Given the description of an element on the screen output the (x, y) to click on. 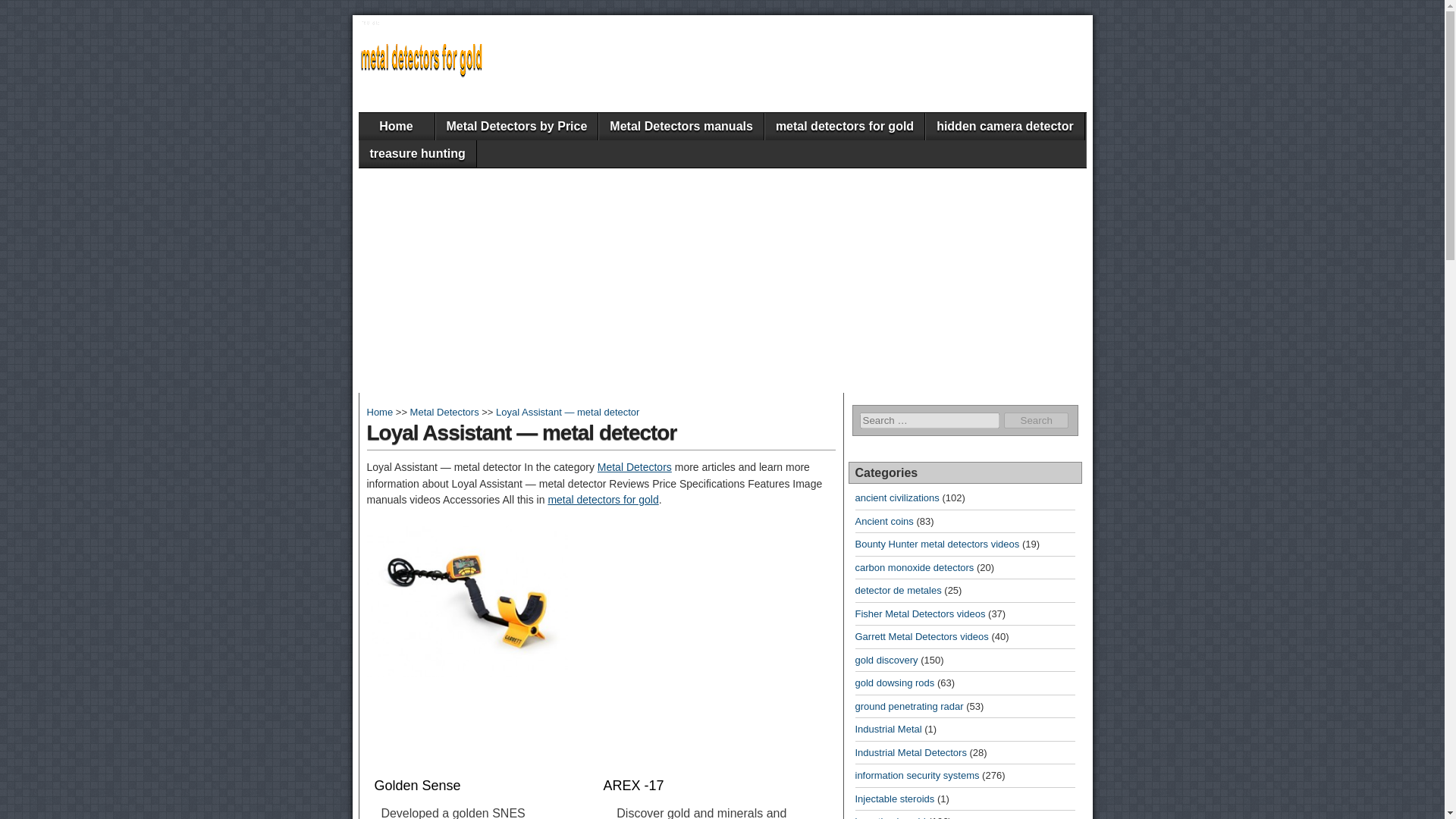
Golden Sense (479, 785)
metal detectors for gold (602, 499)
metal detectors for gold (379, 411)
metal detectors for gold (844, 126)
treasure hunting (417, 153)
Search (1036, 420)
Metal Detectors (633, 467)
Search (1036, 420)
AREX -17 (707, 785)
hidden camera detector (1005, 126)
